Given the description of an element on the screen output the (x, y) to click on. 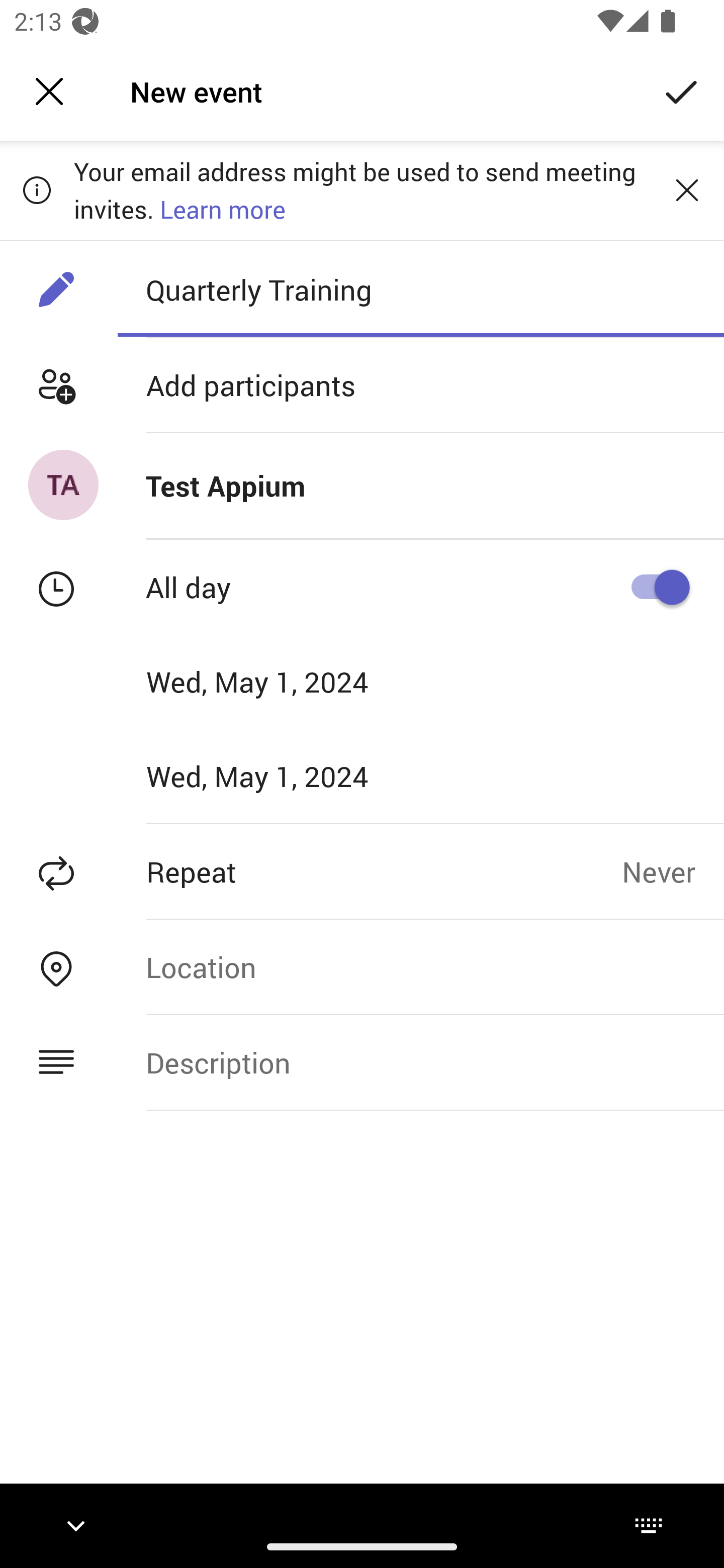
Back (49, 91)
Send invite (681, 90)
Dismiss banner (687, 189)
Quarterly Training (420, 289)
Add participants Add participants option (362, 384)
All day (654, 586)
Wed, May 1, 2024 Starts Wednesday May 01, 2024 (288, 681)
Wed, May 1, 2024 Ends Wednesday May 01, 2024 (288, 776)
Repeat (310, 871)
Never Repeat Never (672, 871)
Location (420, 967)
Description (420, 1062)
